Given the description of an element on the screen output the (x, y) to click on. 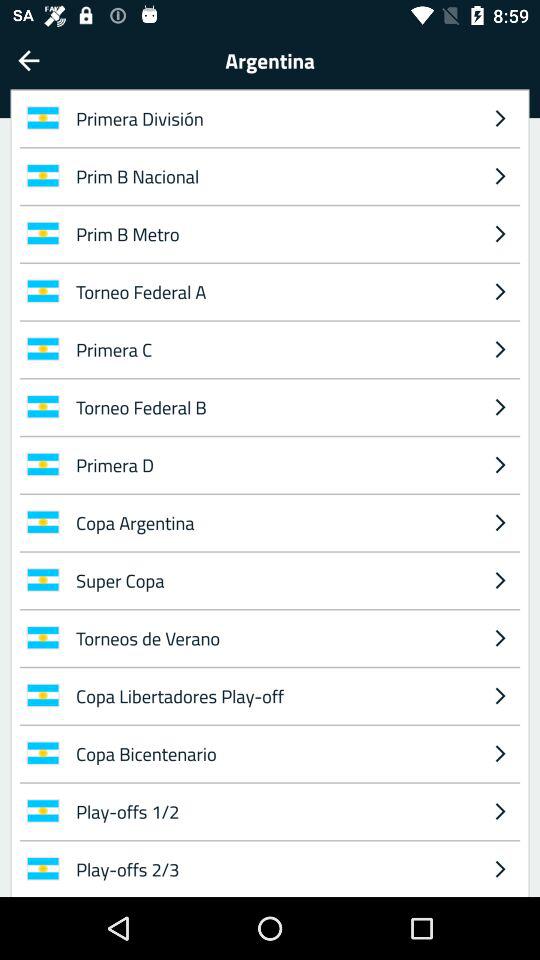
launch the icon next to primera c item (500, 406)
